Given the description of an element on the screen output the (x, y) to click on. 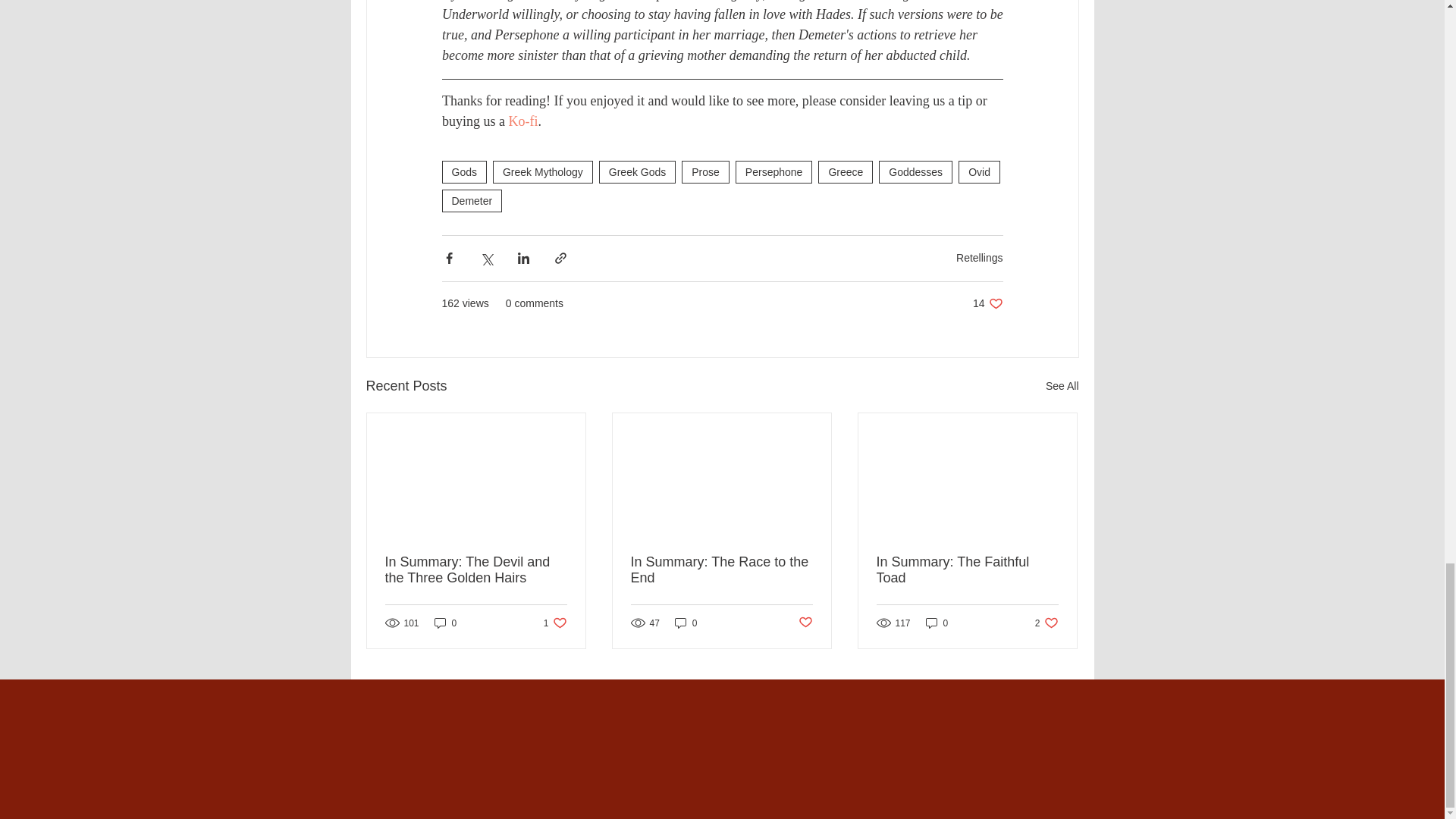
In Summary: The Faithful Toad (967, 570)
See All (1061, 386)
In Summary: The Race to the End (721, 570)
Greek Gods (636, 171)
Prose (555, 622)
0 (705, 171)
Greece (937, 622)
Ovid (845, 171)
Demeter (979, 171)
